Given the description of an element on the screen output the (x, y) to click on. 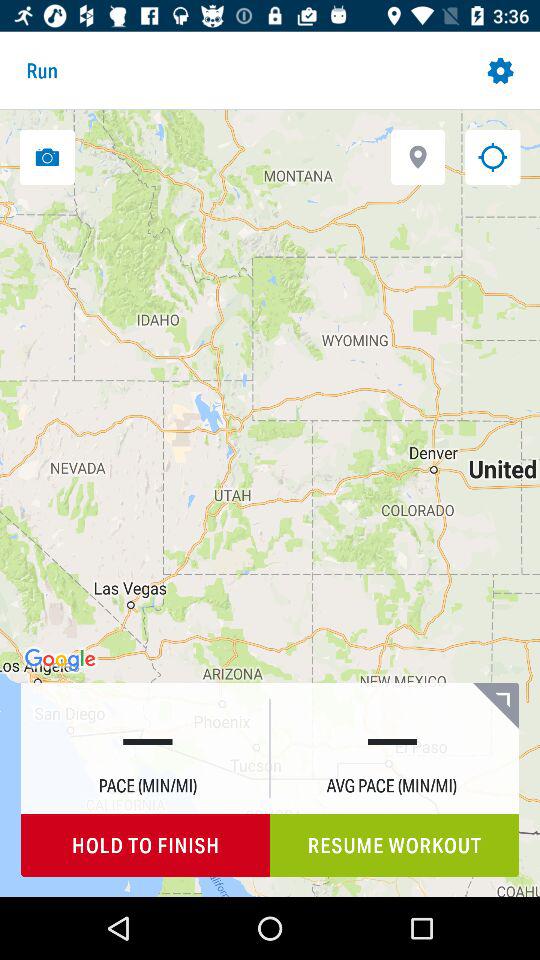
open location settings (418, 156)
